Given the description of an element on the screen output the (x, y) to click on. 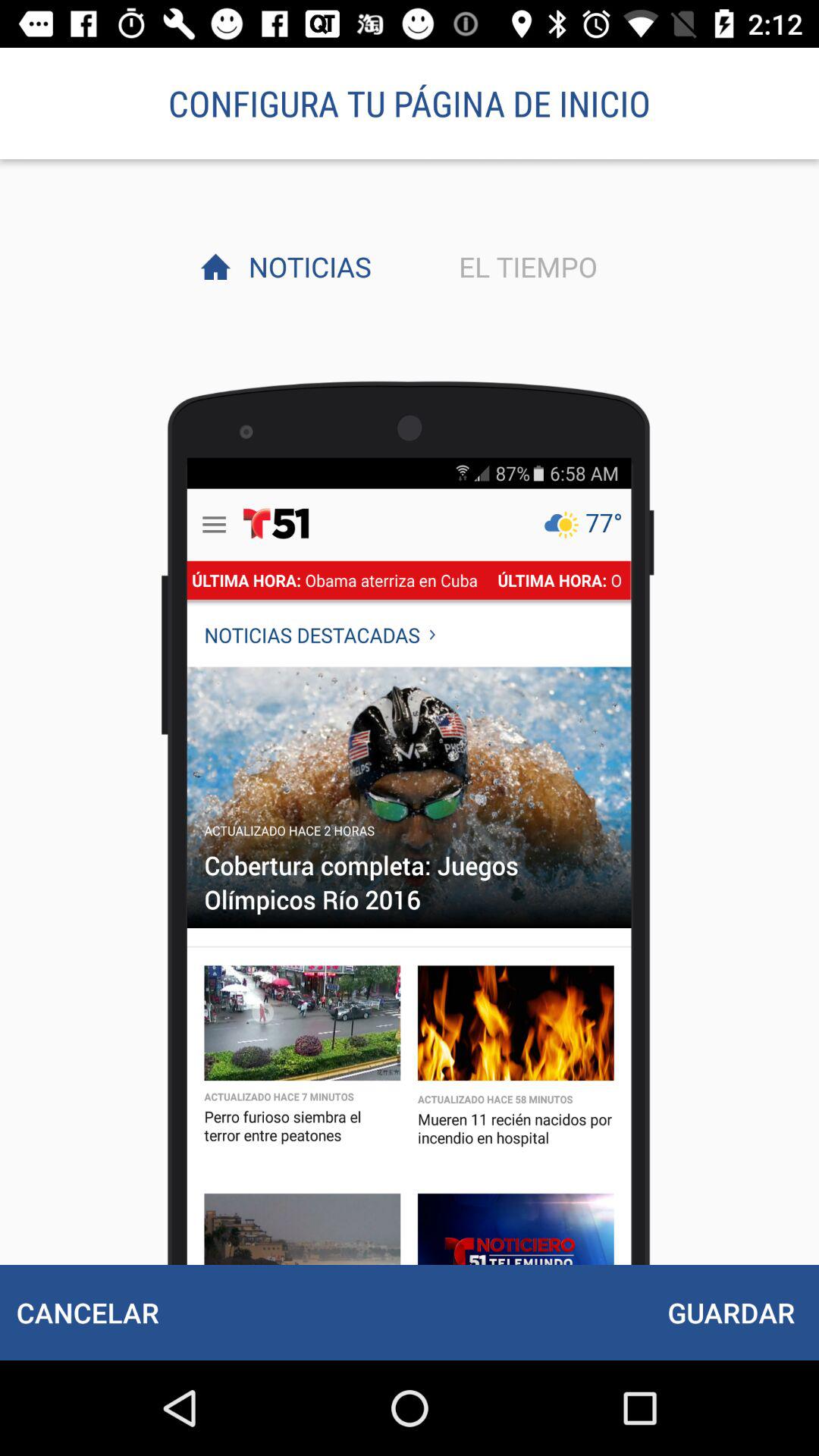
scroll until el tiempo icon (524, 266)
